Given the description of an element on the screen output the (x, y) to click on. 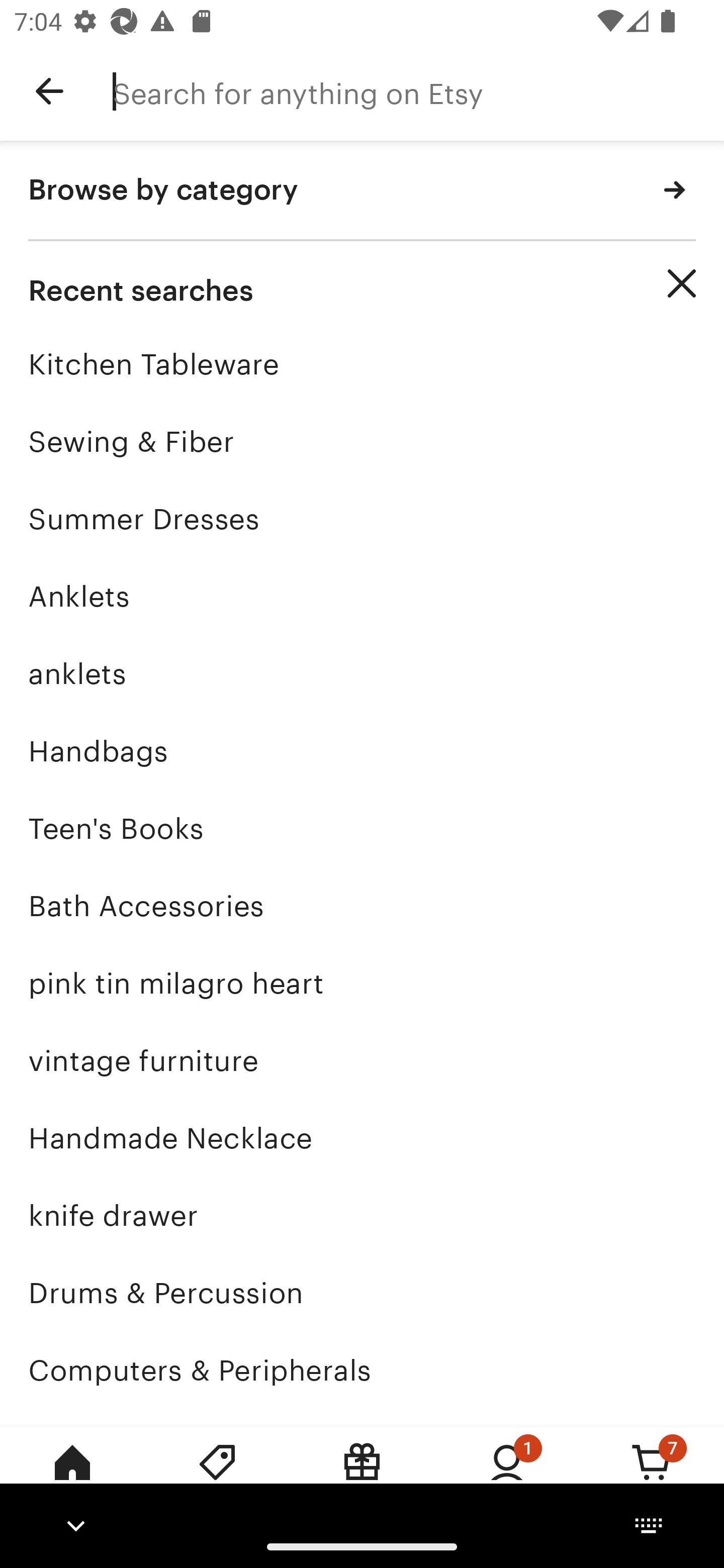
Navigate up (49, 91)
Search for anything on Etsy (418, 91)
Browse by category (362, 191)
Clear (681, 283)
Kitchen Tableware (362, 364)
Sewing & Fiber (362, 440)
Summer Dresses (362, 518)
Anklets (362, 596)
anklets (362, 673)
Handbags (362, 750)
Teen's Books (362, 828)
Bath Accessories (362, 906)
pink tin milagro heart (362, 983)
vintage furniture (362, 1060)
Handmade Necklace (362, 1138)
knife drawer (362, 1215)
Drums & Percussion (362, 1292)
Computers & Peripherals (362, 1370)
Deals (216, 1475)
Gift Mode (361, 1475)
You, 1 new notification (506, 1475)
Cart, 7 new notifications (651, 1475)
